Given the description of an element on the screen output the (x, y) to click on. 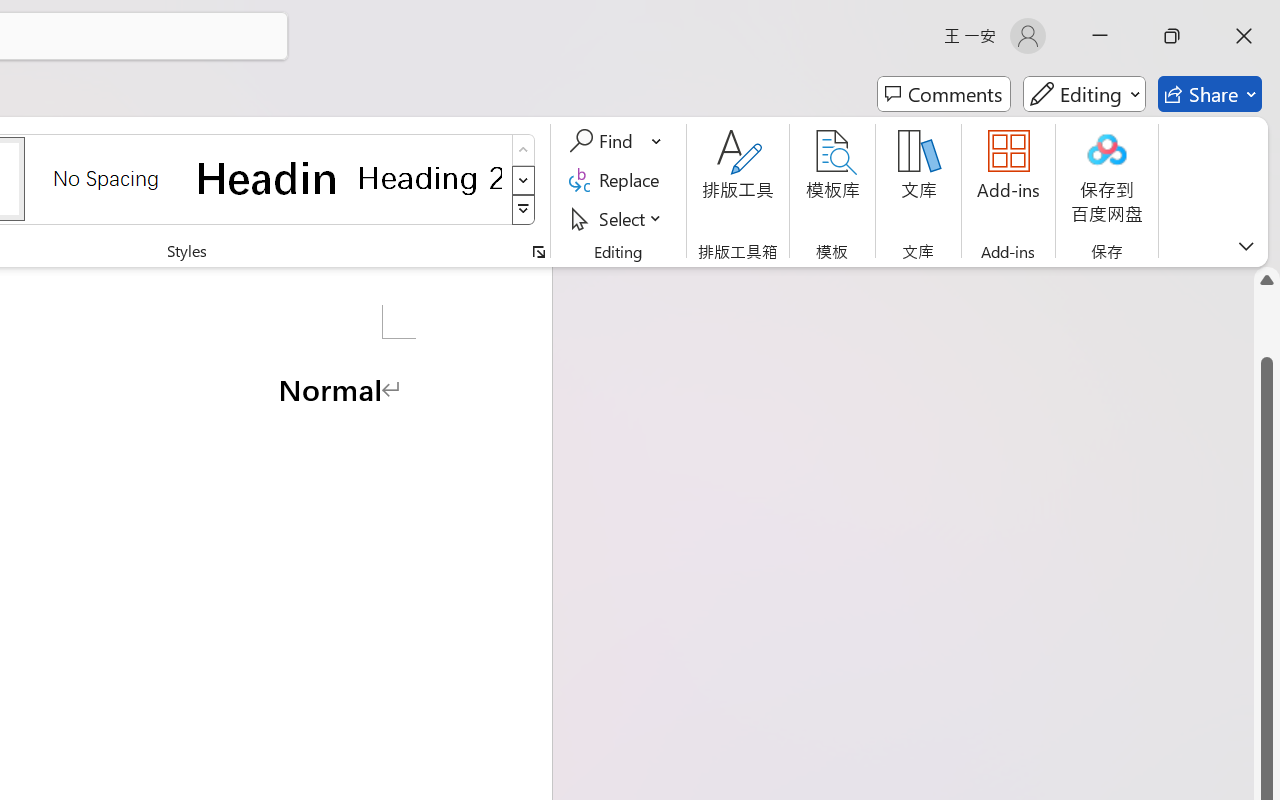
Close this message (1263, 89)
New comment (1007, 170)
